Given the description of an element on the screen output the (x, y) to click on. 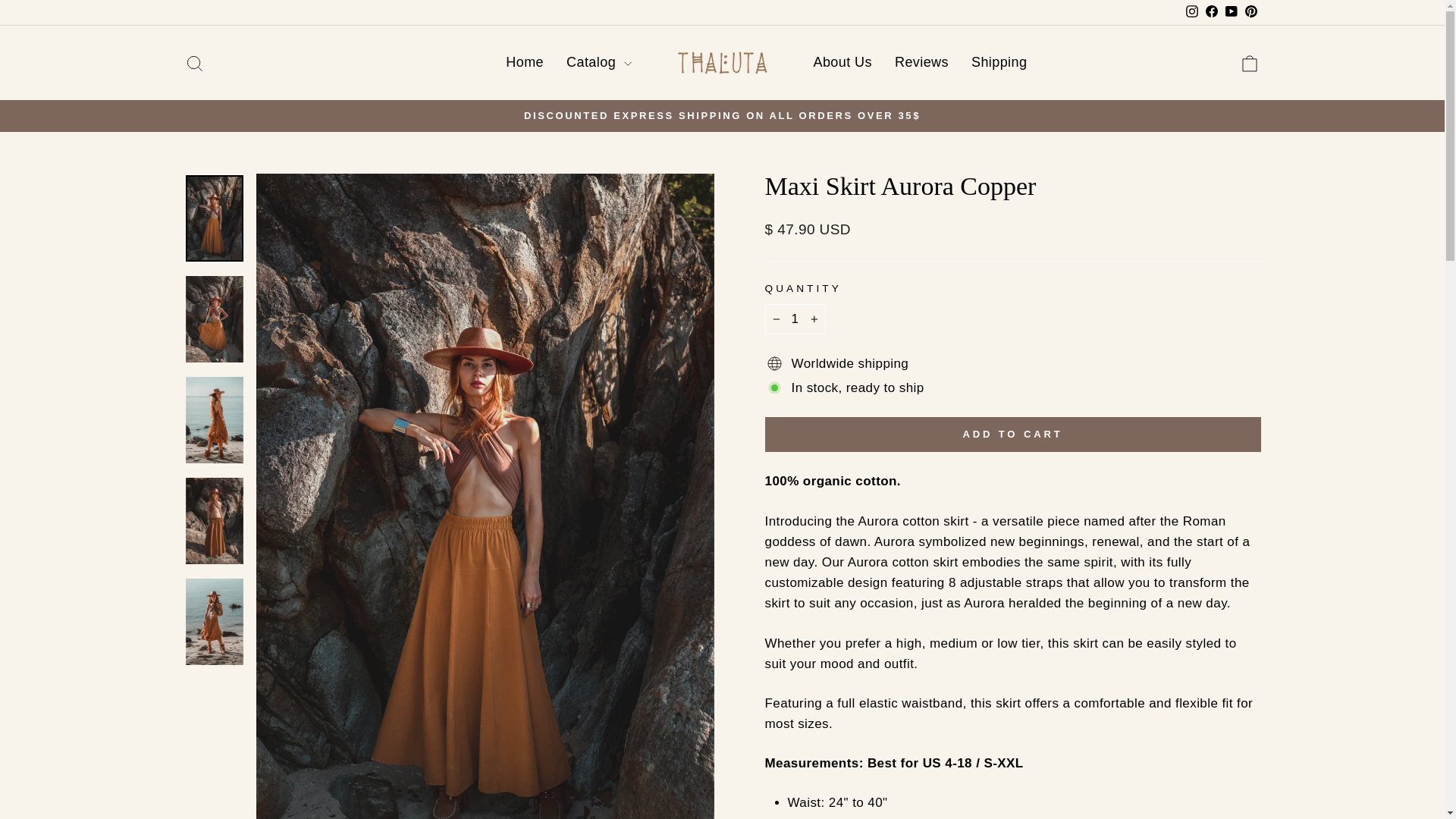
Home (524, 62)
icon-search (194, 63)
1 (794, 318)
icon-bag-minimal (1249, 63)
instagram (194, 62)
